Given the description of an element on the screen output the (x, y) to click on. 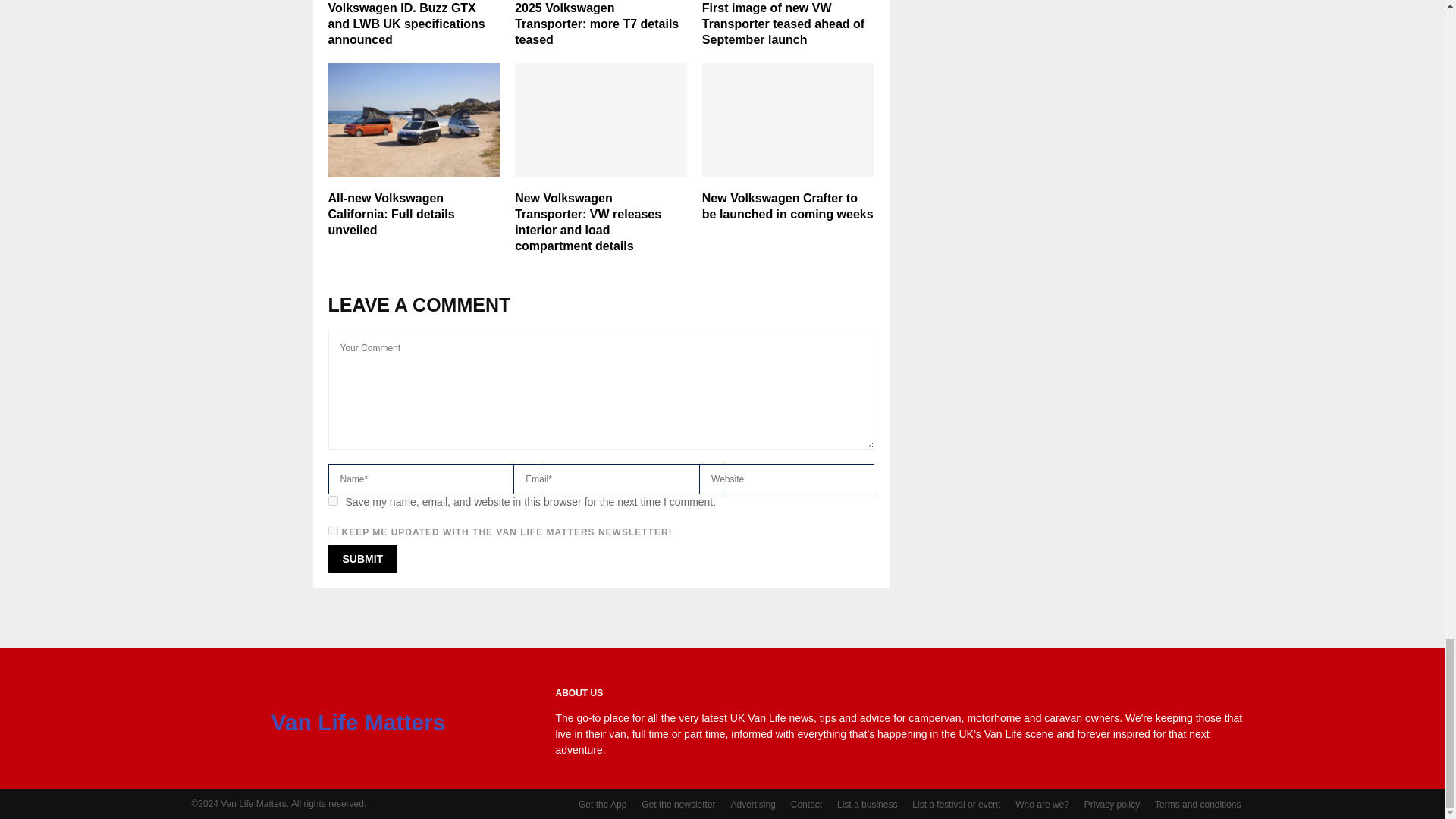
1 (332, 530)
Submit (362, 558)
yes (332, 501)
